Given the description of an element on the screen output the (x, y) to click on. 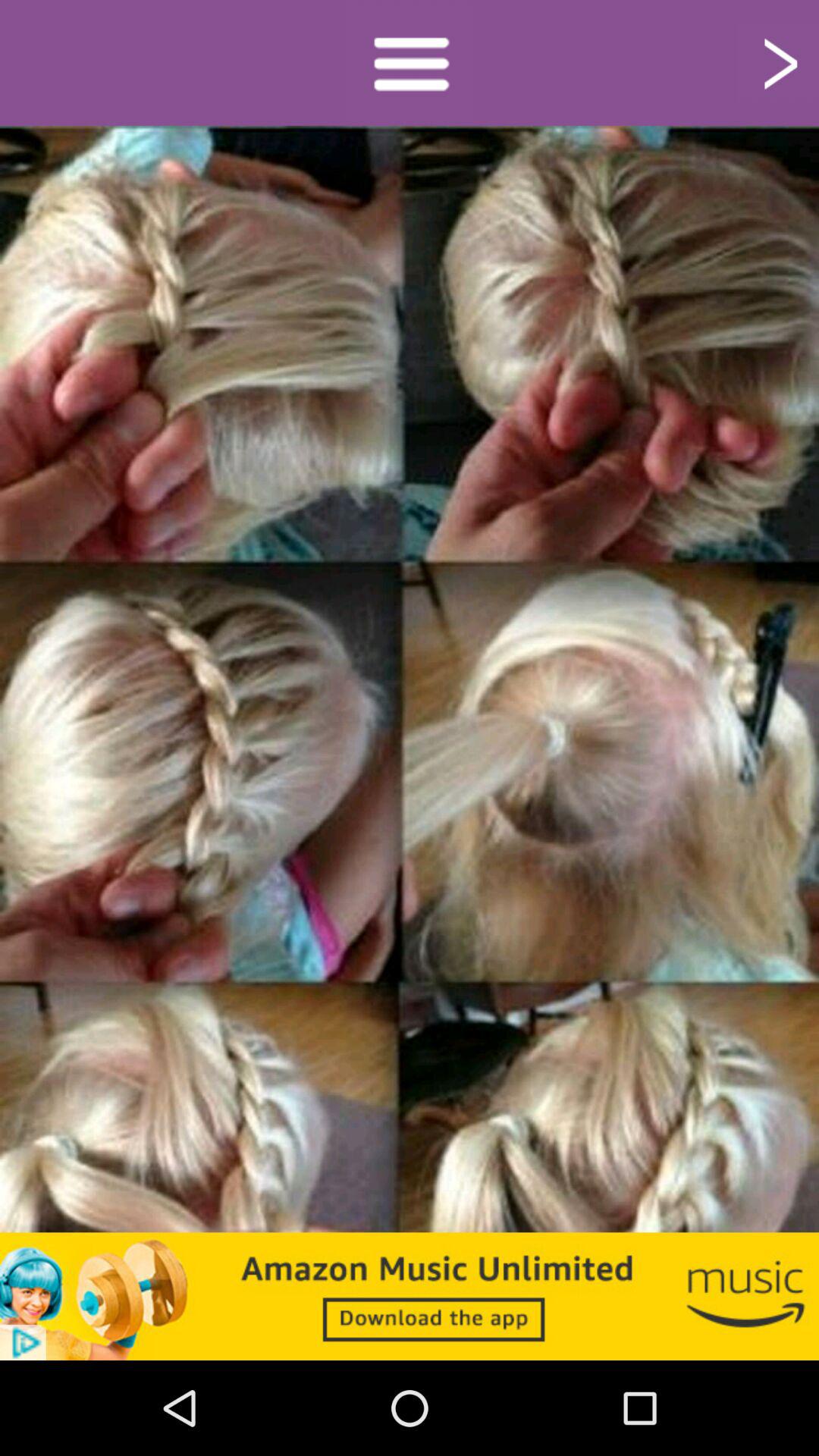
advance to the next slide (778, 62)
